Given the description of an element on the screen output the (x, y) to click on. 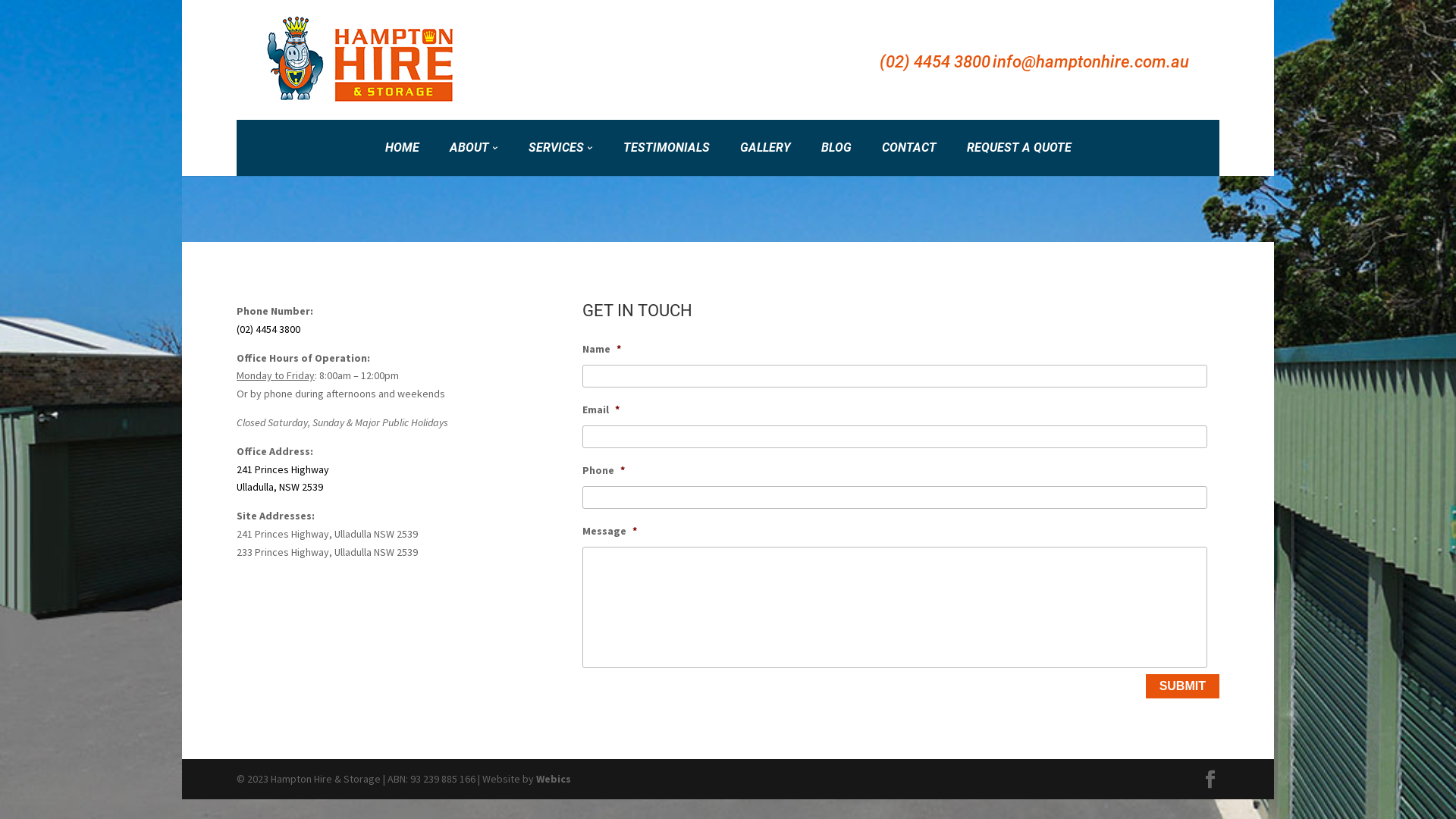
TESTIMONIALS Element type: text (666, 147)
GALLERY Element type: text (765, 147)
HOME Element type: text (402, 147)
Ulladulla, NSW 2539 Element type: text (279, 486)
CONTACT Element type: text (908, 147)
info@hamptonhire.com.au Element type: text (1090, 61)
REQUEST A QUOTE Element type: text (1017, 147)
ABOUT Element type: text (472, 147)
SERVICES Element type: text (559, 147)
(02) 4454 3800 Element type: text (268, 328)
Submit Element type: text (1182, 686)
(02) 4454 3800 Element type: text (934, 61)
241 Princes Highway Element type: text (282, 469)
BLOG Element type: text (835, 147)
Webics Element type: text (553, 778)
